Given the description of an element on the screen output the (x, y) to click on. 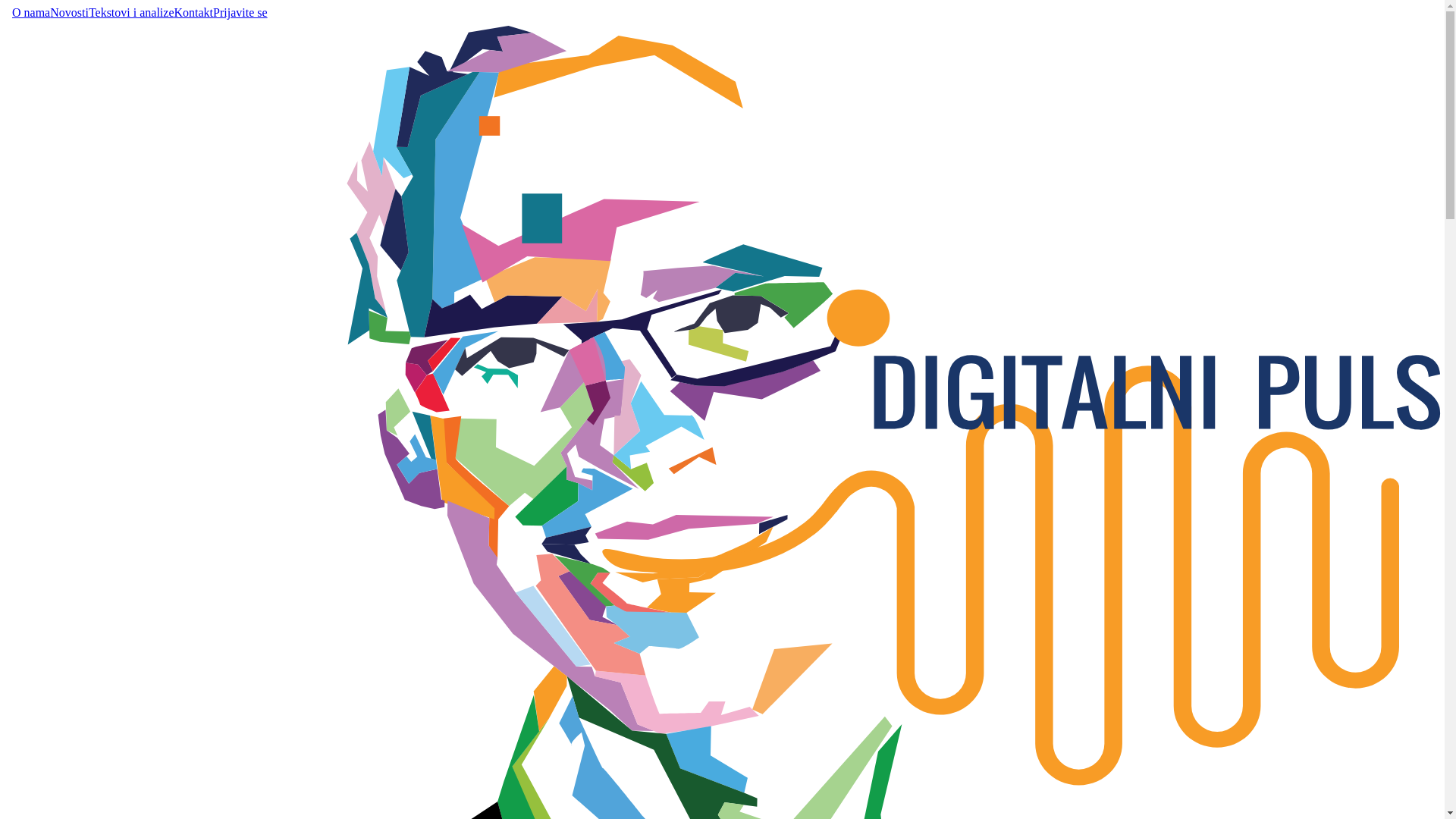
Tekstovi i analize Element type: text (131, 12)
Novosti Element type: text (69, 12)
Kontakt Element type: text (193, 12)
Prijavite se Element type: text (240, 12)
O nama Element type: text (31, 12)
